Given the description of an element on the screen output the (x, y) to click on. 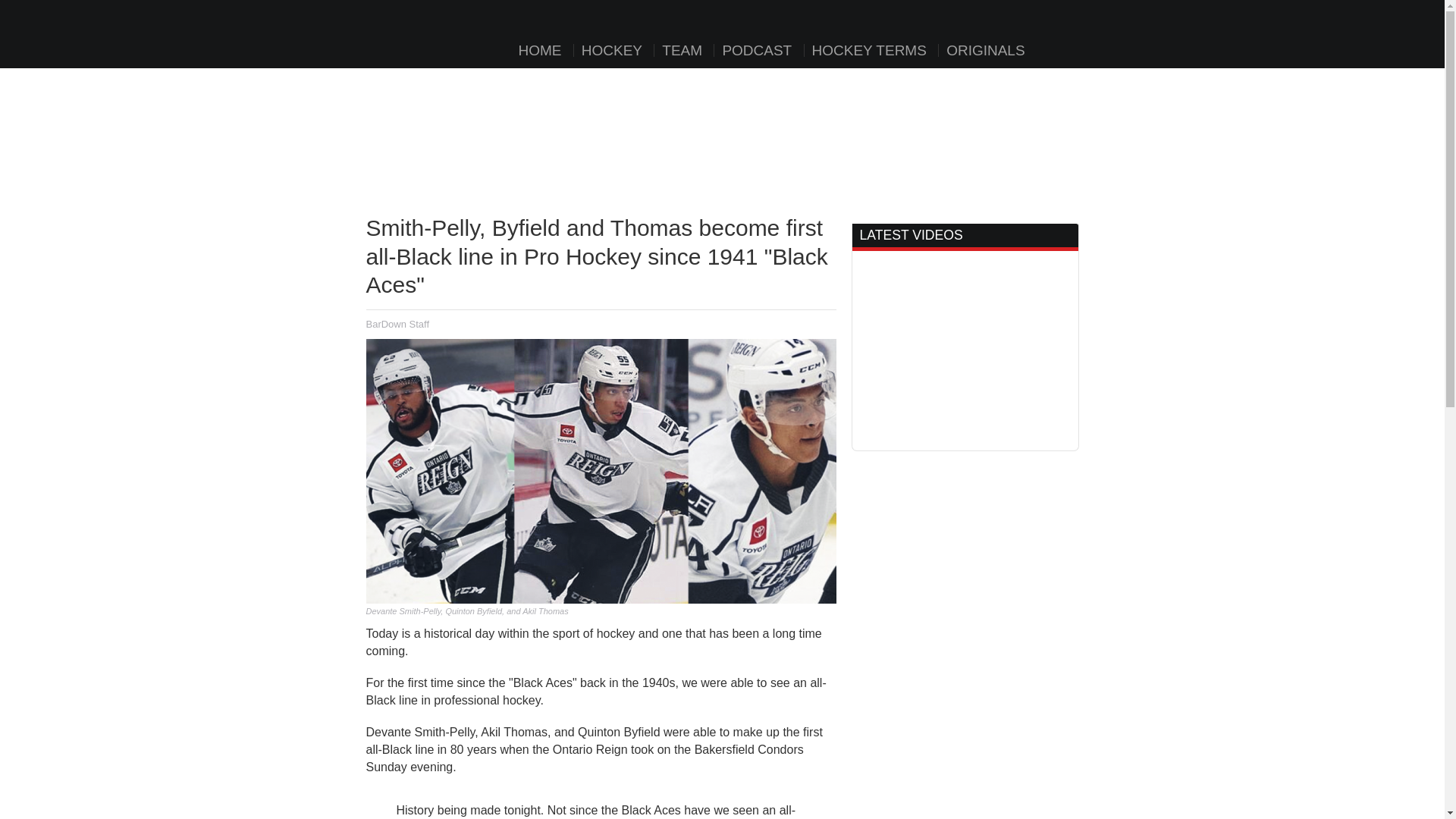
TEAM (681, 50)
HOCKEY (611, 50)
Devante Smith-Pelly, Quinton Byfield, and Akil Thomas (600, 470)
HOME (540, 50)
HOCKEY TERMS (868, 50)
Bardown (438, 28)
Bardown (438, 28)
PODCAST (756, 50)
ORIGINALS (984, 50)
